Given the description of an element on the screen output the (x, y) to click on. 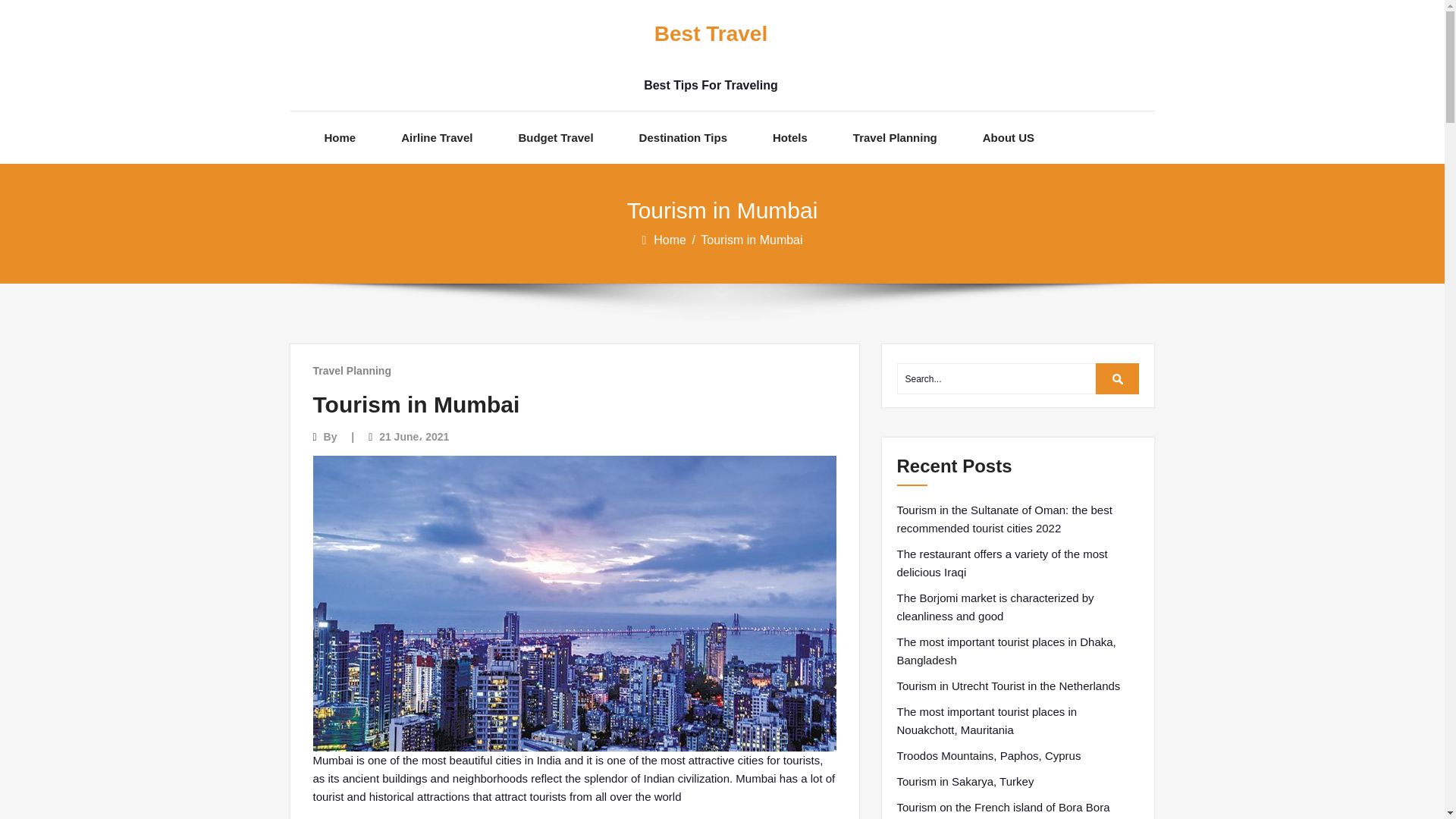
Best Travel (710, 34)
Travel Planning (895, 137)
Travel Planning (351, 370)
About US (1007, 137)
Home (670, 239)
Budget Travel (555, 137)
Search (1118, 378)
Destination Tips (682, 137)
Airline Travel (436, 137)
